Given the description of an element on the screen output the (x, y) to click on. 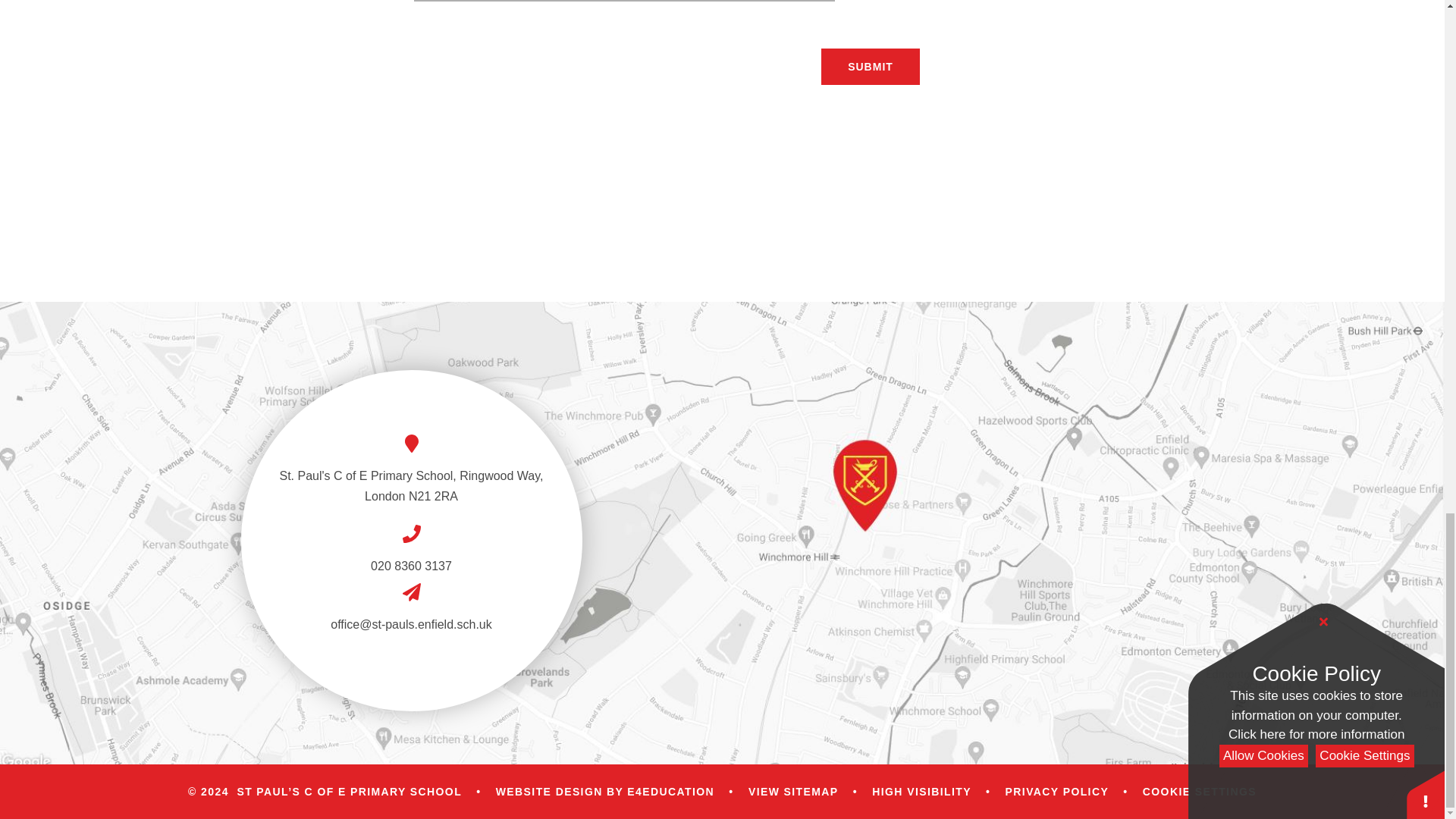
Cookie Settings (1199, 791)
